Given the description of an element on the screen output the (x, y) to click on. 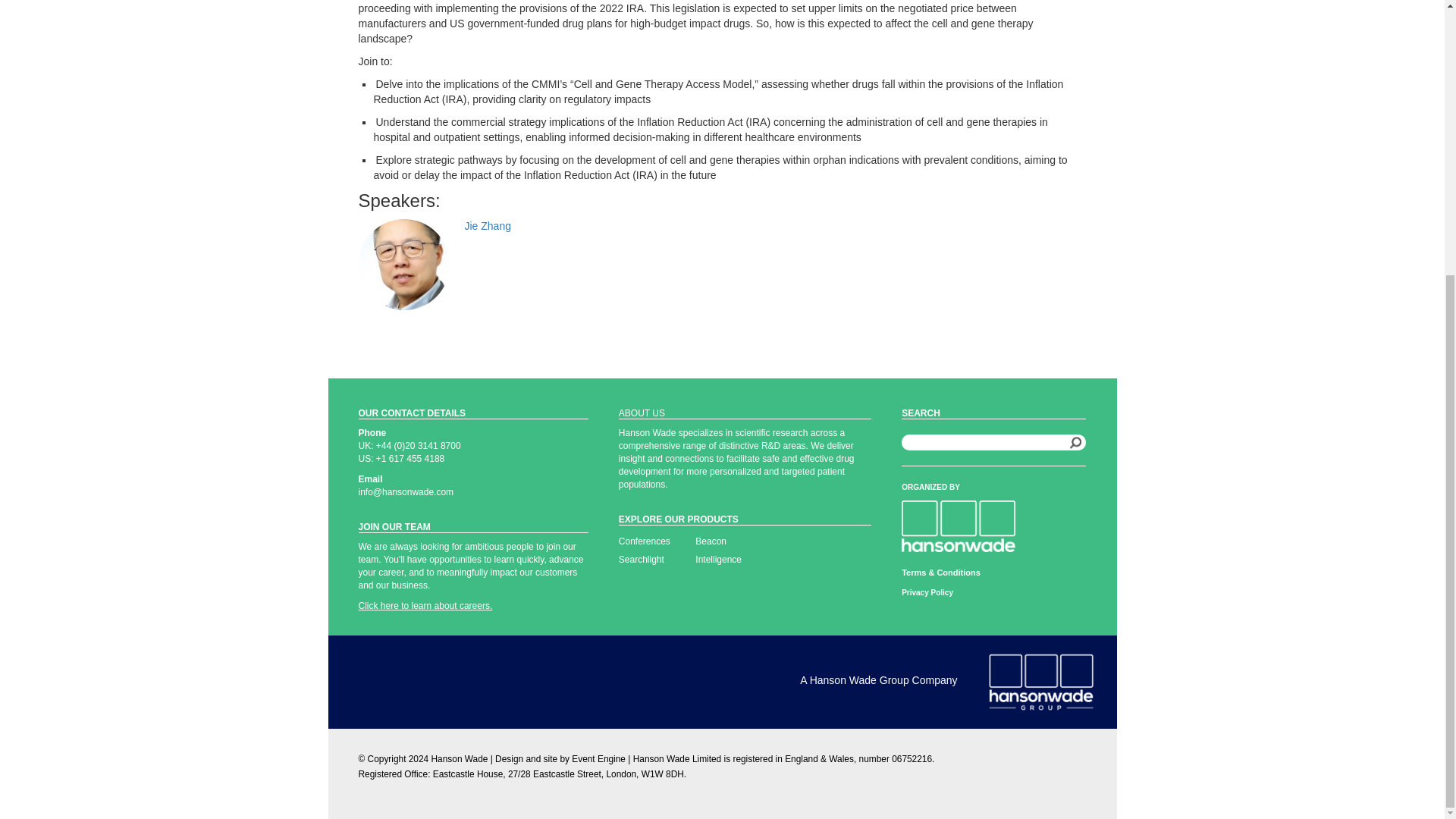
HansonWade Logo (957, 526)
Jie Zhang (487, 225)
HWG (1040, 681)
Jie Zhang (403, 264)
